Given the description of an element on the screen output the (x, y) to click on. 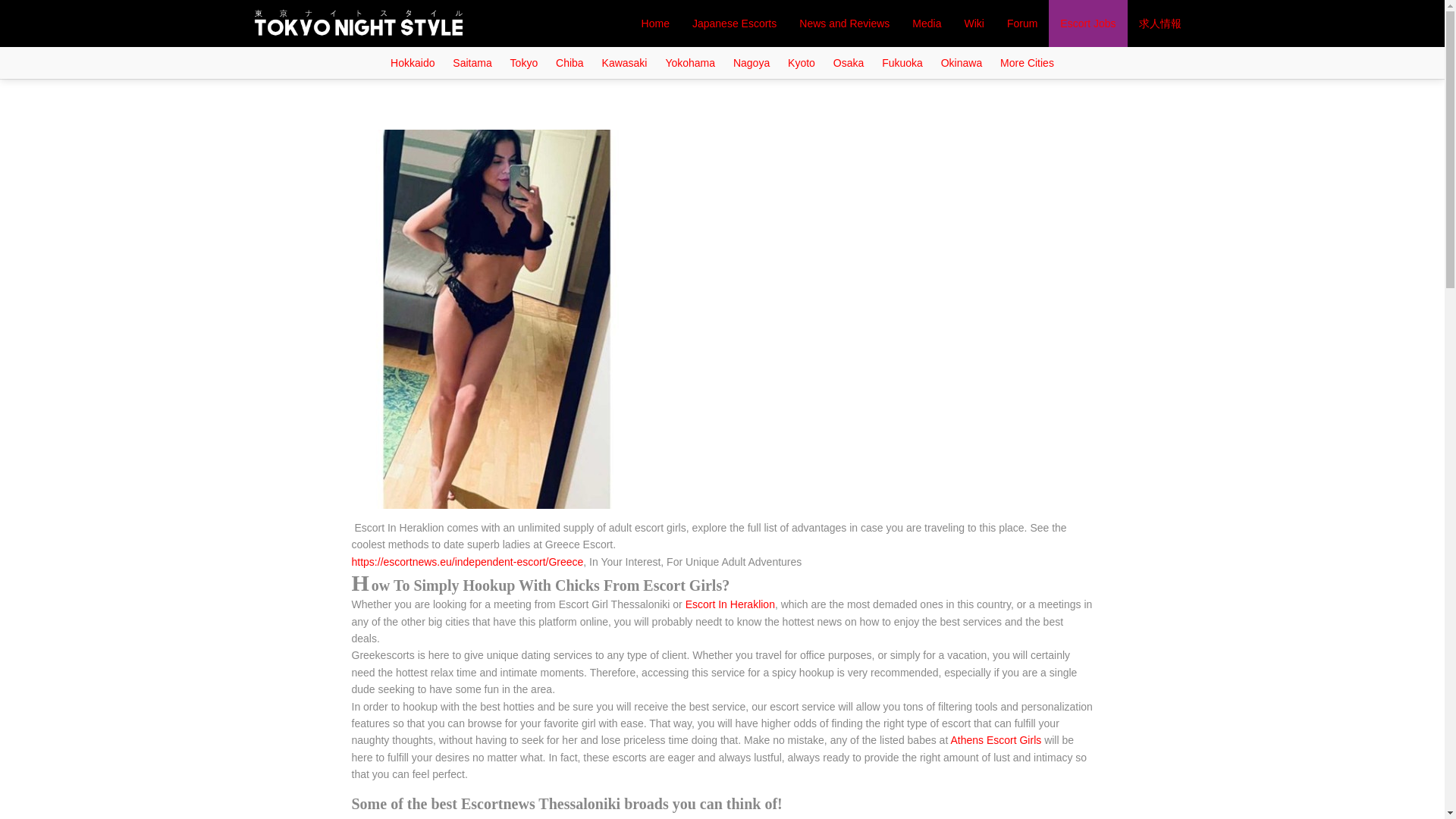
Kyoto (801, 62)
Saitama (472, 62)
Escort Jobs (1087, 23)
News and Reviews (844, 23)
More Cities (1026, 62)
Contact Us (329, 67)
Fukuoka (902, 62)
Nagoya (751, 62)
Osaka (847, 62)
Home (282, 67)
Home (655, 23)
Athens Escort Girls (995, 739)
Chiba (569, 62)
Wiki (973, 23)
Kawasaki (624, 62)
